Given the description of an element on the screen output the (x, y) to click on. 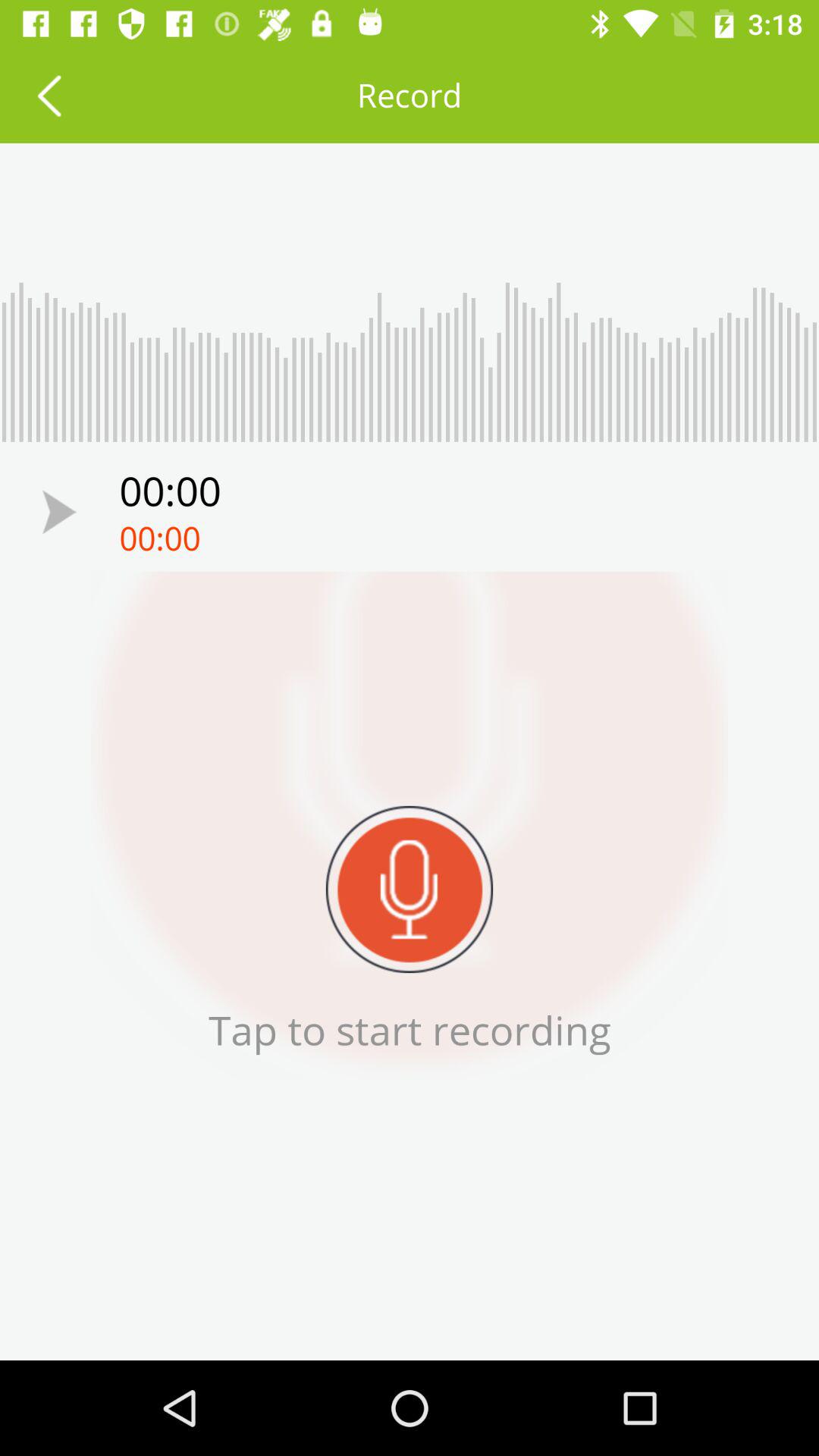
choose icon to the left of 00:00 item (59, 511)
